Given the description of an element on the screen output the (x, y) to click on. 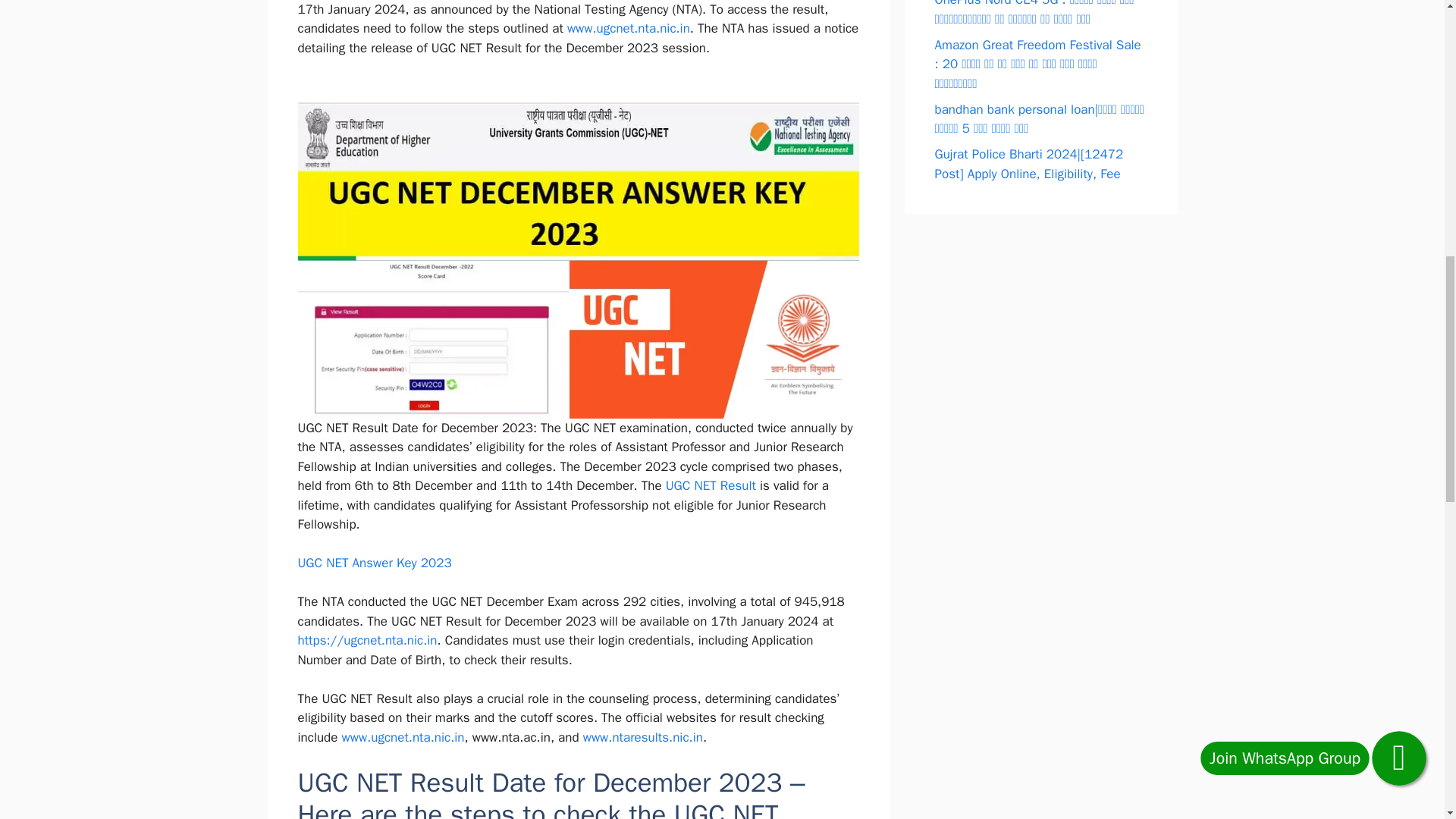
www.ntaresults.nic.in (643, 737)
www.ugcnet.nta.nic.in (403, 737)
www.ugcnet.nta.nic.in (628, 28)
UGC NET Answer Key 2023 (374, 562)
UGC NET Result (710, 485)
